Given the description of an element on the screen output the (x, y) to click on. 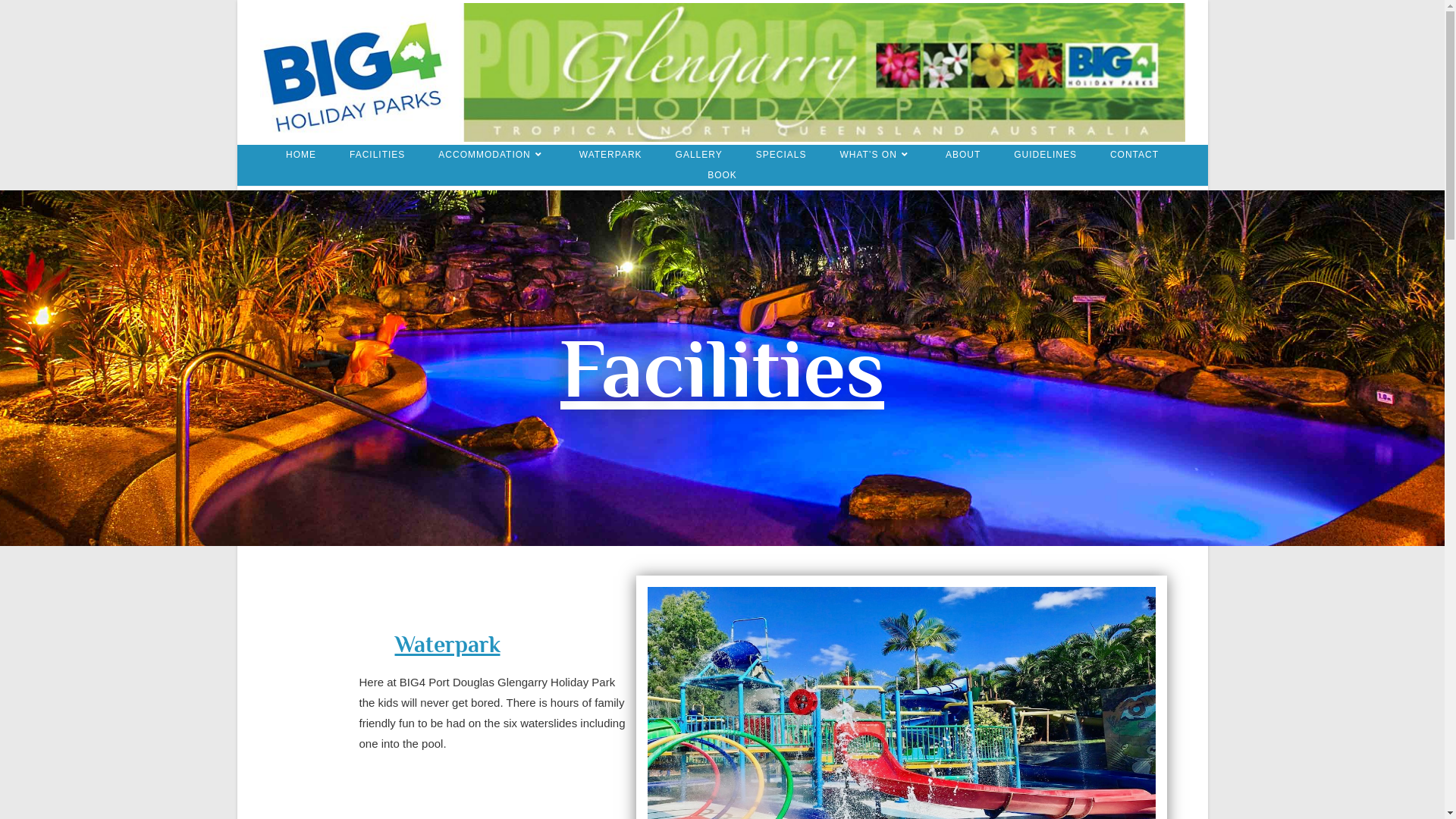
SPECIALS Element type: text (781, 154)
Specials Element type: text (1101, 791)
About Element type: text (952, 802)
BOOK Element type: text (721, 175)
GUIDELINES Element type: text (1045, 154)
Book Element type: text (1078, 802)
Villas and Cabins Element type: text (916, 791)
FACILITIES Element type: text (376, 154)
Contact Element type: text (1042, 802)
Sites Element type: text (970, 791)
Facilities Element type: text (785, 791)
CONTACT Element type: text (1134, 154)
ABOUT Element type: text (962, 154)
GALLERY Element type: text (698, 154)
WATERPARK Element type: text (610, 154)
Gallery Element type: text (1059, 791)
Waterpark Element type: text (1014, 791)
Guidelines Element type: text (995, 802)
Home Element type: text (746, 791)
Upcoming Events Element type: text (811, 802)
HOME Element type: text (300, 154)
Top Things To Do Element type: text (892, 802)
ACCOMMODATION Element type: text (491, 154)
Accommodation Element type: text (845, 792)
